Given the description of an element on the screen output the (x, y) to click on. 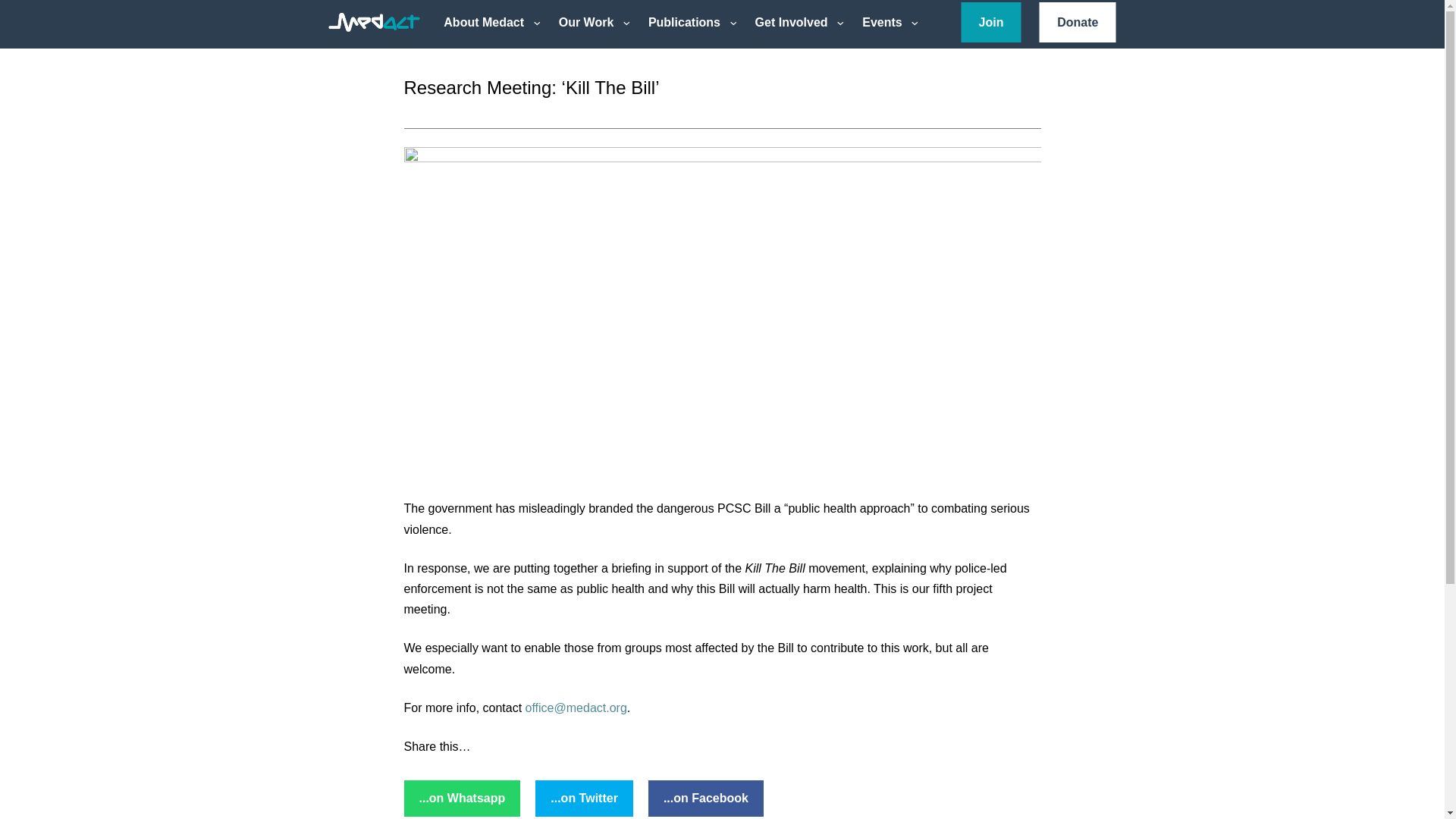
Get Involved (791, 21)
Twitter (584, 797)
About Medact (483, 21)
Publications (684, 21)
Whatsapp (461, 797)
Events (881, 21)
Join (991, 22)
Our Work (586, 21)
Donate (1077, 22)
